Given the description of an element on the screen output the (x, y) to click on. 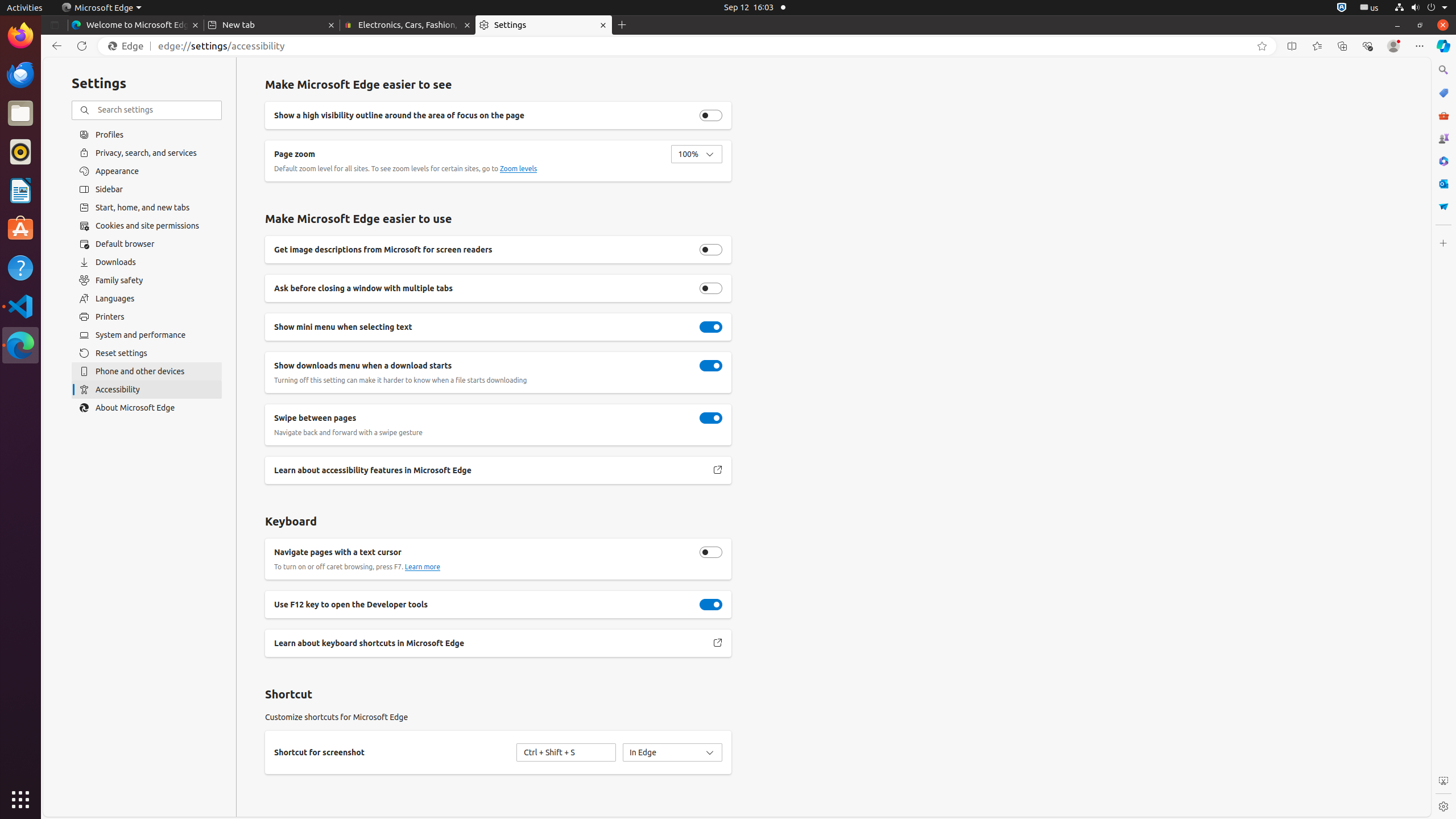
Collections Element type: push-button (1341, 45)
Profile 1 Profile, Please sign in Element type: push-button (1392, 46)
System Element type: menu (1420, 7)
Firefox Web Browser Element type: push-button (20, 35)
Scope of $1 for $2 In Edge Element type: push-button (672, 751)
